Given the description of an element on the screen output the (x, y) to click on. 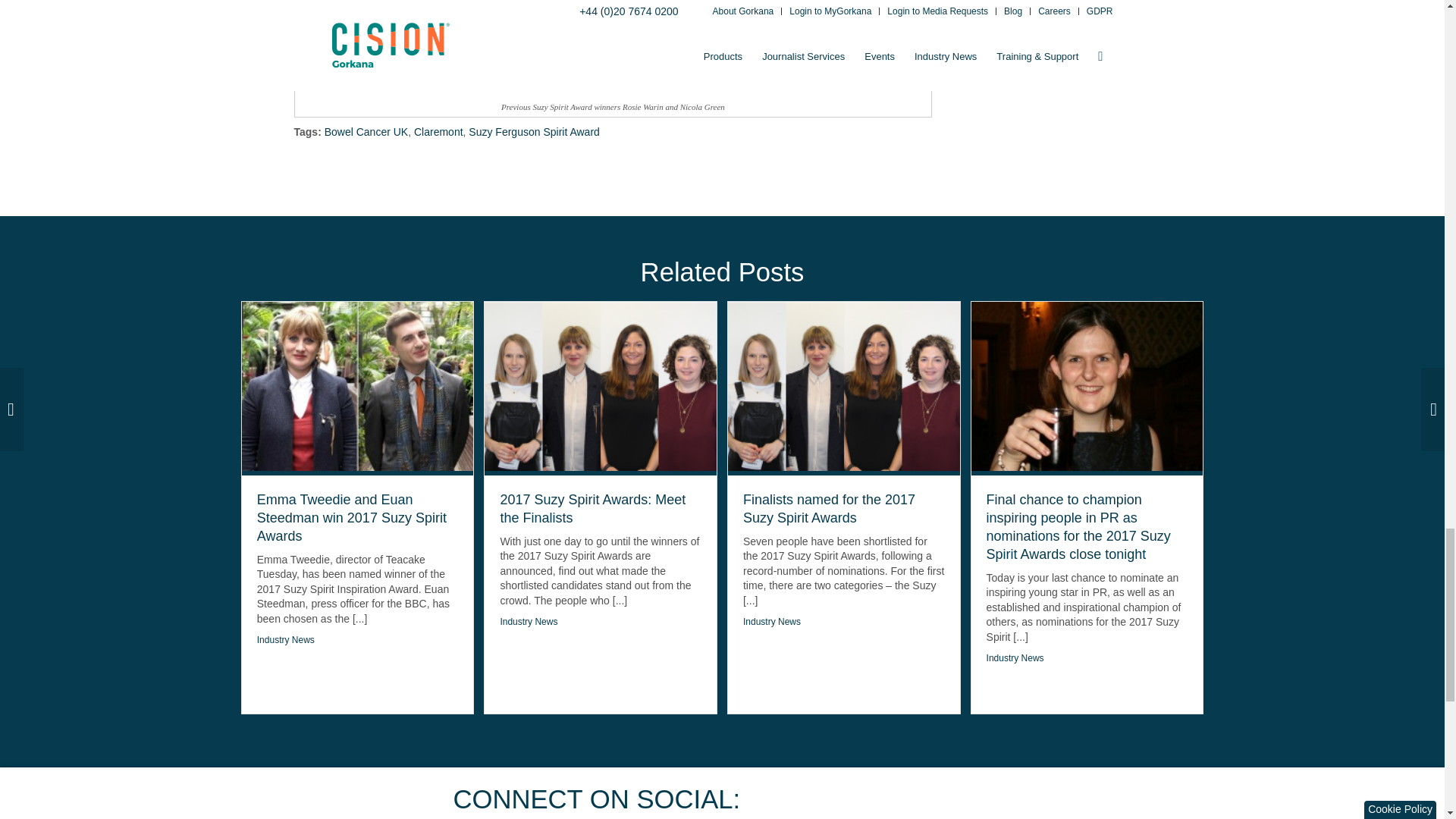
connect on Facebook (824, 800)
connect on Linkedin (872, 800)
connect on YouTube (918, 800)
connect on Twitter (777, 800)
connect on Instagram (966, 800)
